Given the description of an element on the screen output the (x, y) to click on. 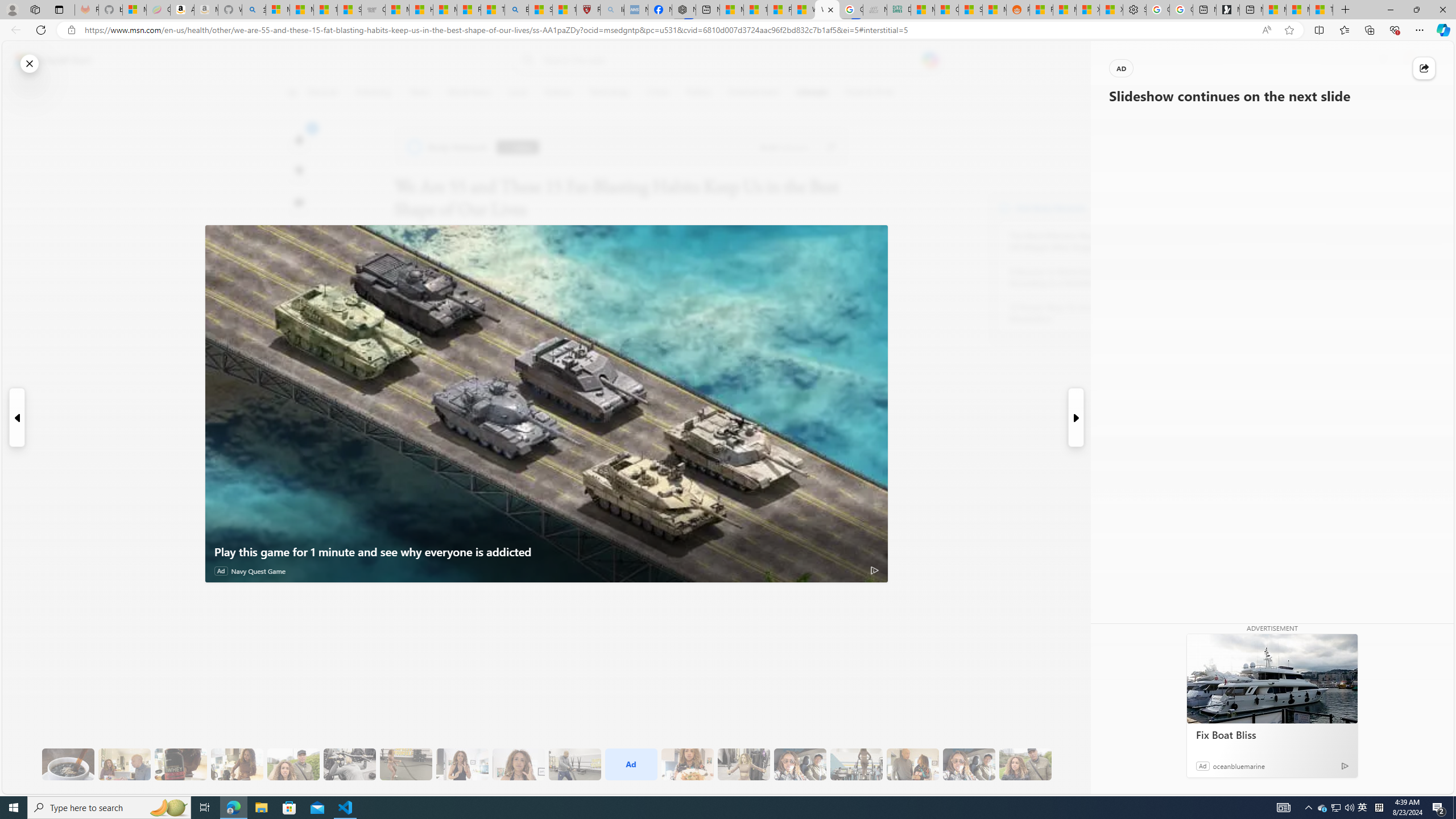
13 Her Husband Does Group Cardio Classs (574, 764)
5 She Eats Less Than Her Husband (124, 764)
Previous Slide (16, 417)
R******* | Trusted Community Engagement and Contributions (1041, 9)
